Given the description of an element on the screen output the (x, y) to click on. 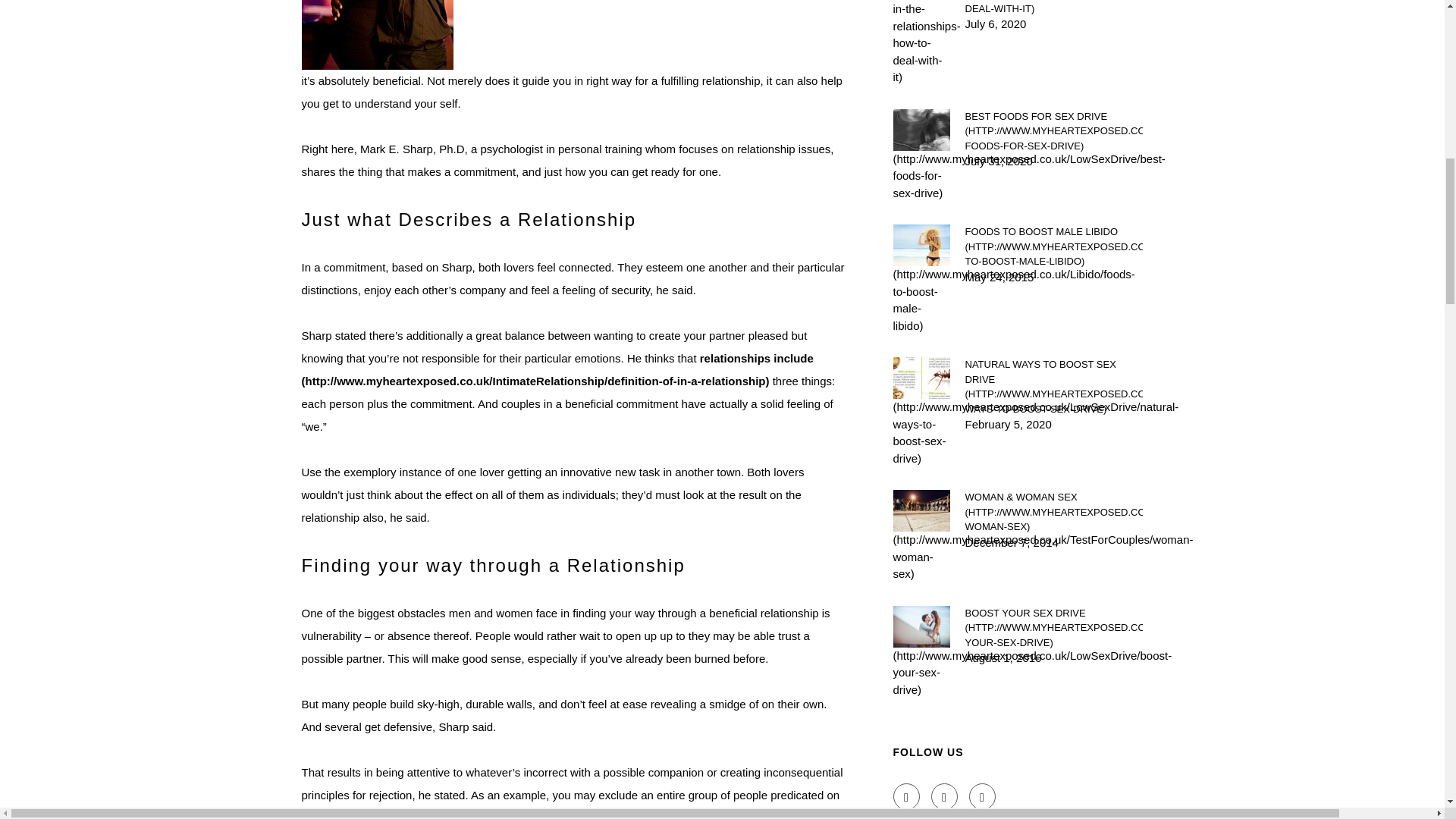
relationships include (557, 369)
BEST FOODS FOR SEX DRIVE (1052, 130)
FOODS TO BOOST MALE LIBIDO (1052, 246)
Facebook (906, 795)
STRESS IN THE RELATIONSHIPS: HOW TO DEAL WITH IT (1052, 8)
Twitter (944, 795)
Google Plus (982, 795)
Definition of in a relationship (557, 369)
